Given the description of an element on the screen output the (x, y) to click on. 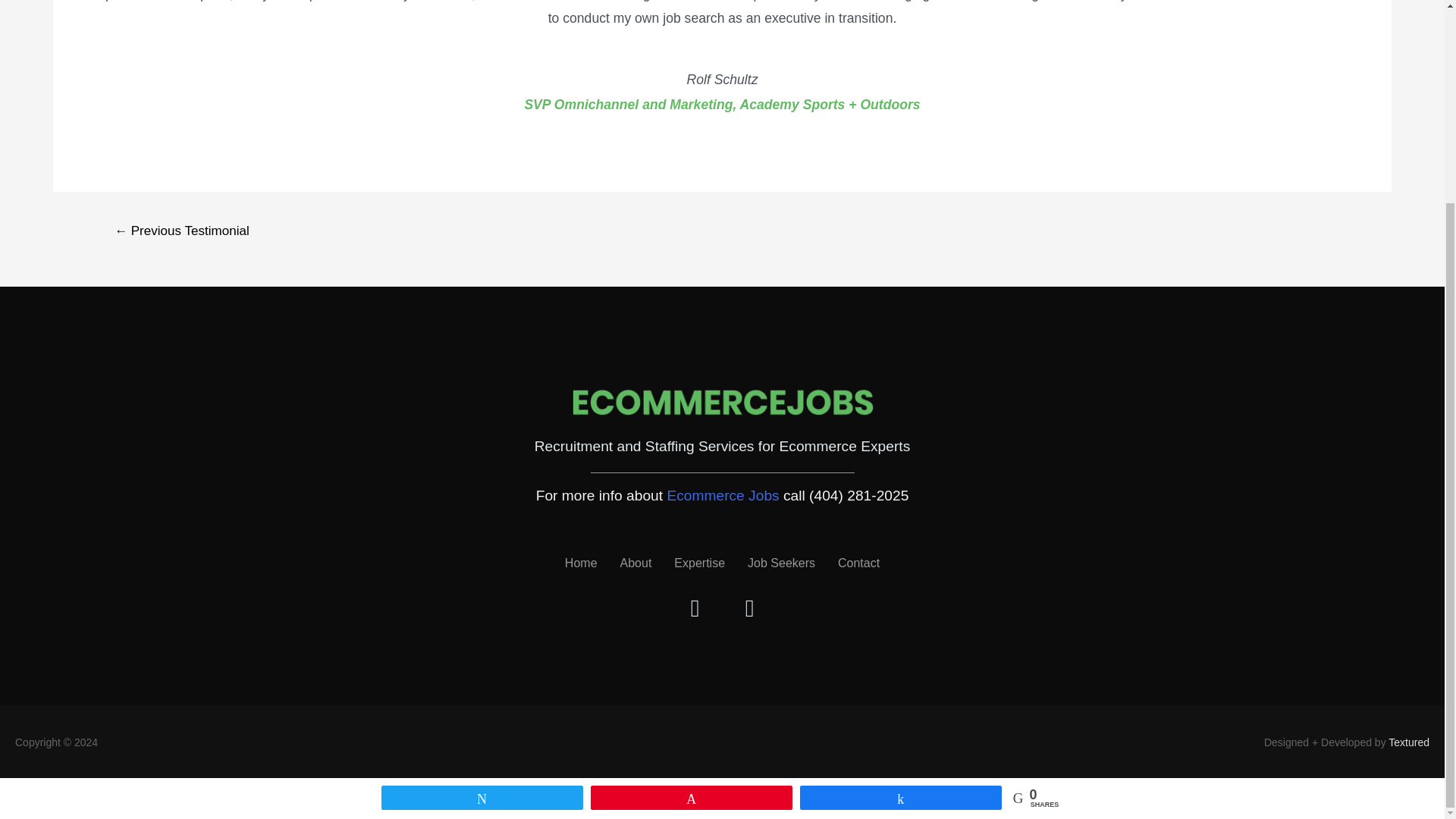
Expertise (699, 563)
Ecommerce Jobs (722, 495)
Job Seekers (780, 563)
ecommercejobslogo (721, 409)
Home (581, 563)
About (635, 563)
